Given the description of an element on the screen output the (x, y) to click on. 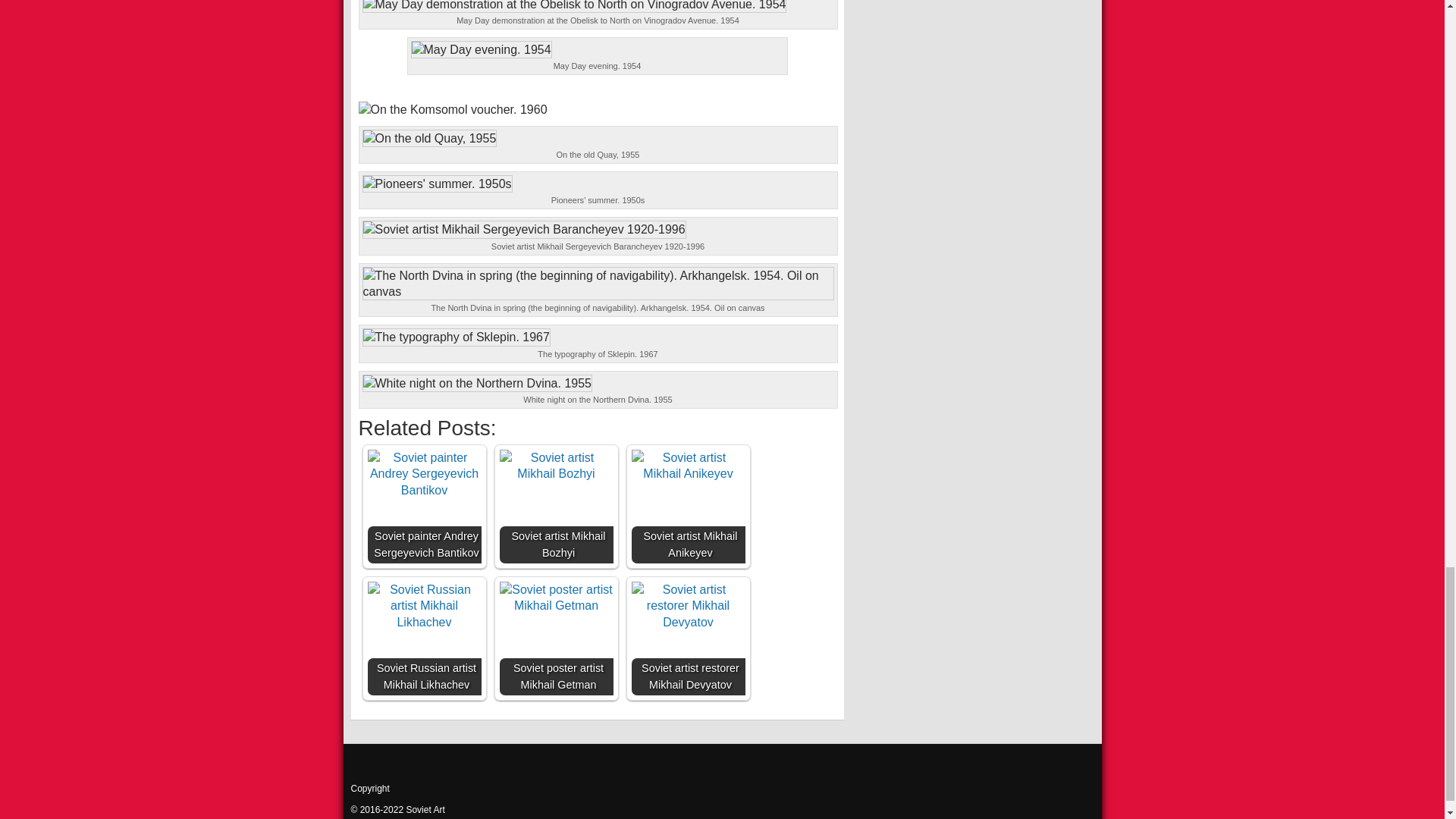
Soviet painter Andrey Sergeyevich Bantikov (423, 473)
Soviet artist restorer Mikhail Devyatov (687, 605)
Soviet Russian artist Mikhail Likhachev (423, 638)
Soviet artist Mikhail Anikeyev (687, 465)
Soviet artist Mikhail Bozhyi (555, 465)
Soviet artist restorer Mikhail Devyatov (687, 638)
Soviet artist Mikhail Anikeyev (687, 506)
Soviet painter Andrey Sergeyevich Bantikov (423, 506)
Soviet Russian artist Mikhail Likhachev (423, 605)
Soviet poster artist Mikhail Getman (555, 638)
